Given the description of an element on the screen output the (x, y) to click on. 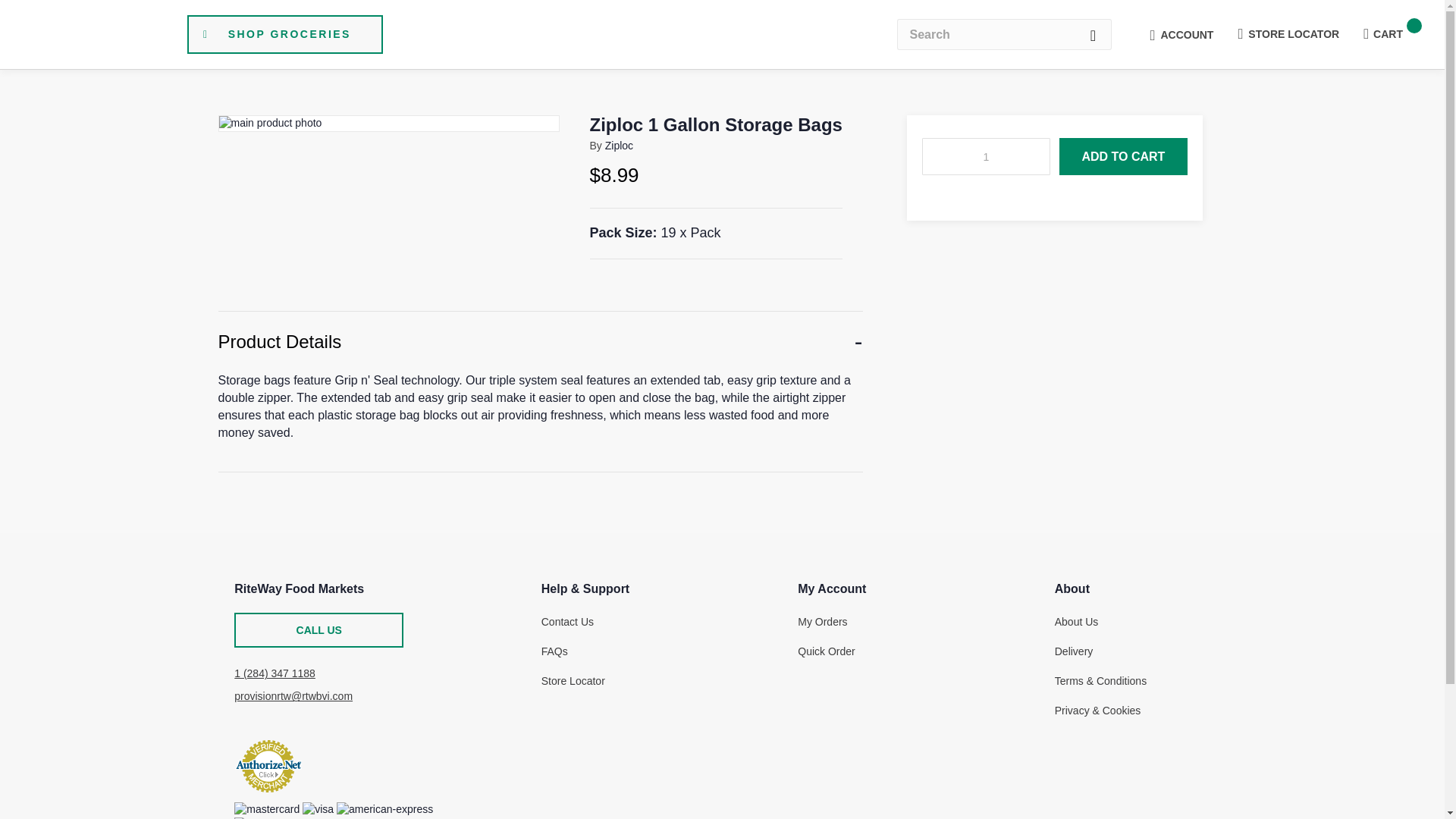
SHOP GROCERIES (283, 34)
Add to Cart (1123, 156)
Qty (985, 156)
1 (985, 156)
